Given the description of an element on the screen output the (x, y) to click on. 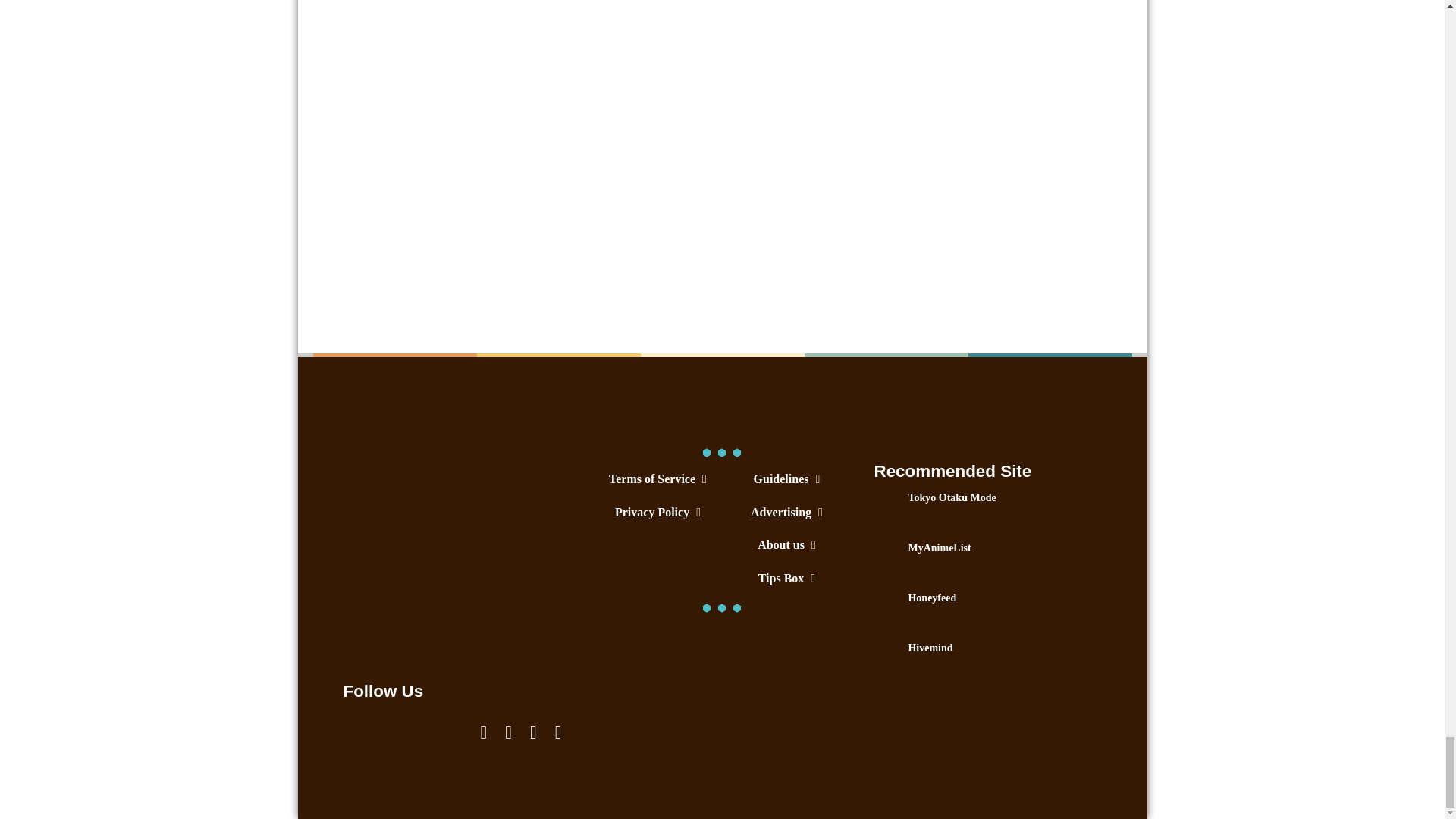
Guidelines (786, 478)
Terms of Service Agreement (657, 478)
Privacy Policy (657, 512)
Advertising (786, 512)
